Given the description of an element on the screen output the (x, y) to click on. 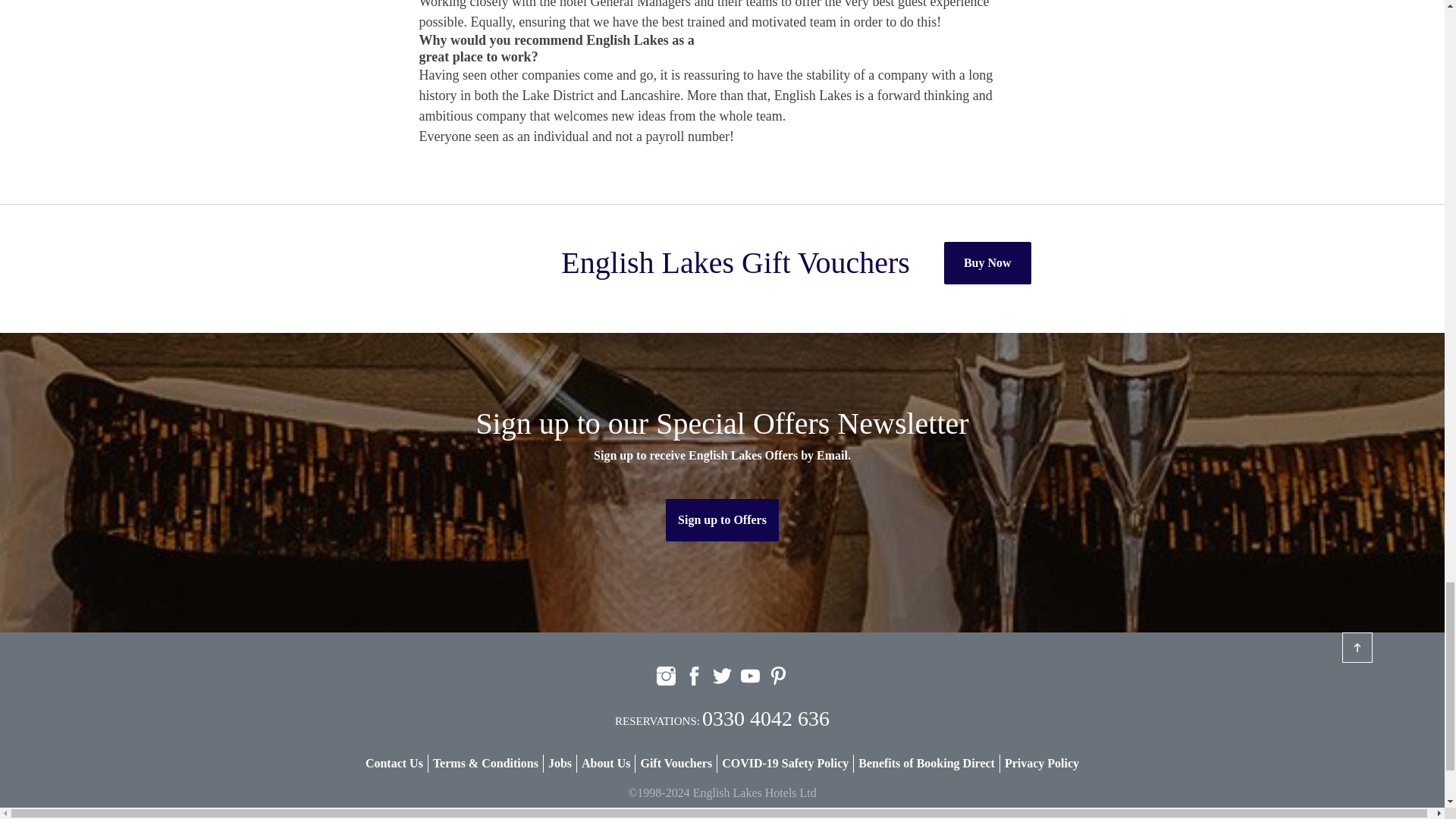
English Lakes facebook Page (693, 675)
facebook (693, 675)
English Lakes instagram Page (665, 675)
youtube (750, 675)
Sign up to Offers (721, 519)
English Lakes pinterest Page (777, 675)
Instagram (665, 675)
English Lakes twitter Page (722, 675)
twitter (722, 675)
Buy Now (986, 262)
English Lakes youtube Page (750, 675)
